Given the description of an element on the screen output the (x, y) to click on. 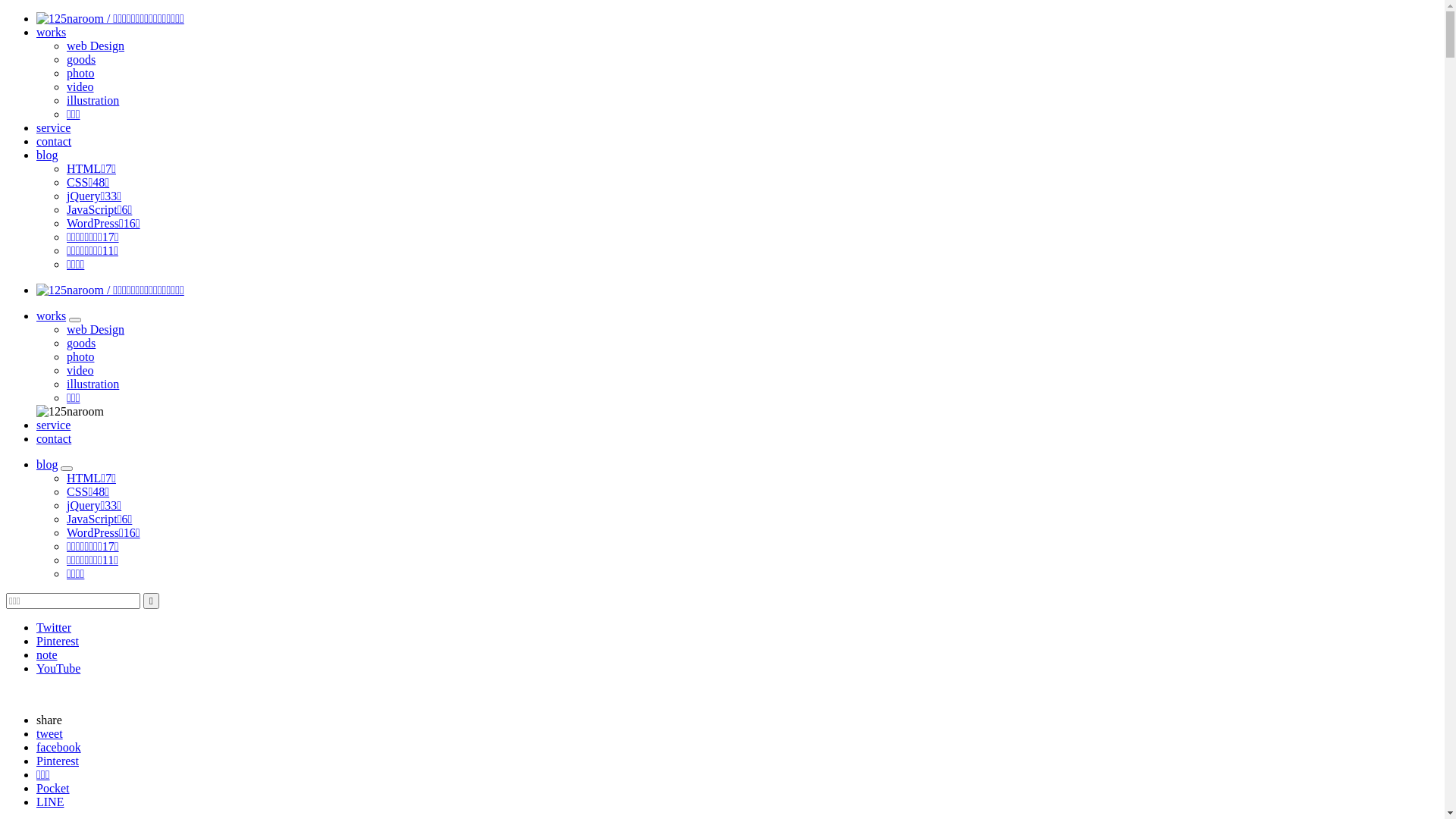
Pinterest Element type: text (57, 640)
photo Element type: text (80, 356)
YouTube Element type: text (58, 668)
web Design Element type: text (95, 329)
service Element type: text (53, 127)
goods Element type: text (80, 342)
blog Element type: text (46, 154)
Pinterest Element type: text (57, 760)
tweet Element type: text (49, 733)
Twitter Element type: text (53, 627)
facebook Element type: text (58, 746)
video Element type: text (80, 370)
works Element type: text (50, 31)
video Element type: text (80, 86)
contact Element type: text (53, 140)
contact Element type: text (53, 438)
service Element type: text (53, 424)
goods Element type: text (80, 59)
note Element type: text (46, 654)
works Element type: text (50, 315)
LINE Element type: text (49, 801)
Pocket Element type: text (52, 787)
web Design Element type: text (95, 45)
illustration Element type: text (92, 383)
photo Element type: text (80, 72)
blog Element type: text (46, 464)
illustration Element type: text (92, 100)
